Given the description of an element on the screen output the (x, y) to click on. 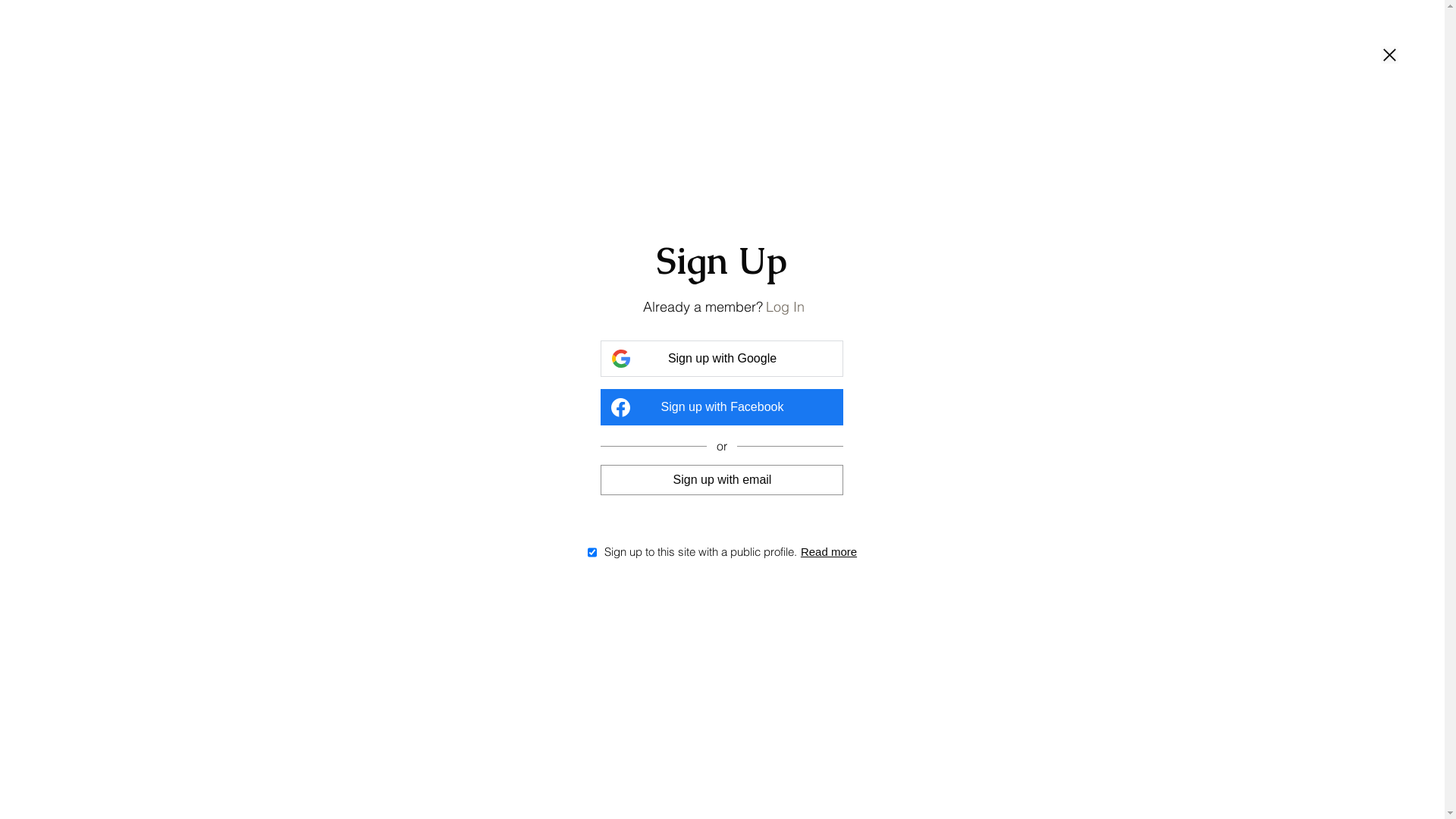
Log In Element type: text (784, 306)
Sign up with email Element type: text (721, 479)
Sign up with Facebook Element type: text (721, 407)
Sign up with Google Element type: text (721, 358)
Read more Element type: text (828, 551)
